Given the description of an element on the screen output the (x, y) to click on. 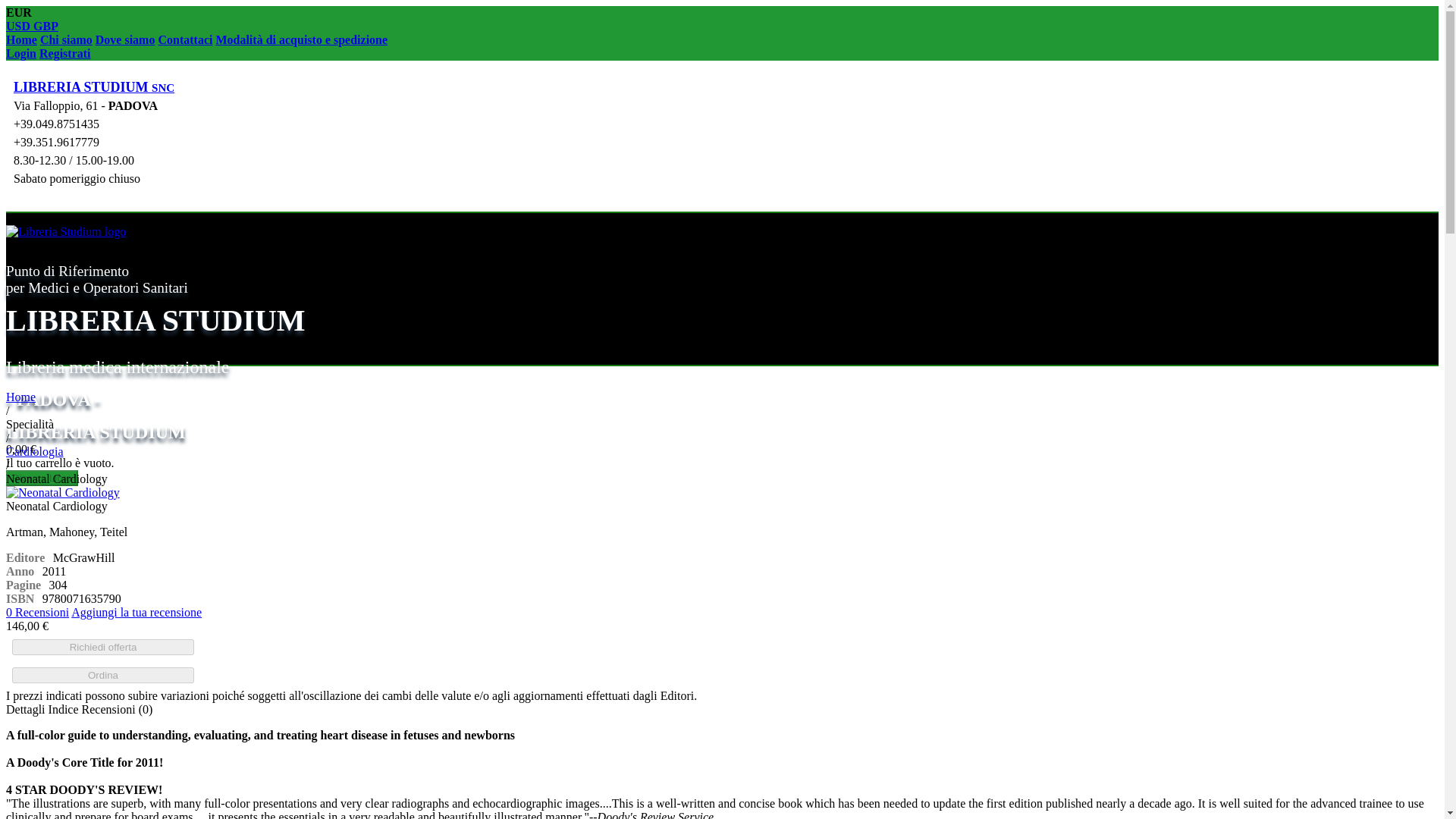
LIBRERIA STUDIUM SNC (93, 87)
Login (20, 52)
GBP (45, 25)
Home (19, 396)
Cardiologia (34, 451)
Chi siamo (66, 39)
Contattaci (184, 39)
USD (19, 25)
Dove siamo (125, 39)
Home (21, 39)
Dettagli (25, 708)
Aggiungi la tua recensione (136, 612)
Ricerca Libro (41, 478)
0 Recensioni (36, 612)
Registrati (64, 52)
